Given the description of an element on the screen output the (x, y) to click on. 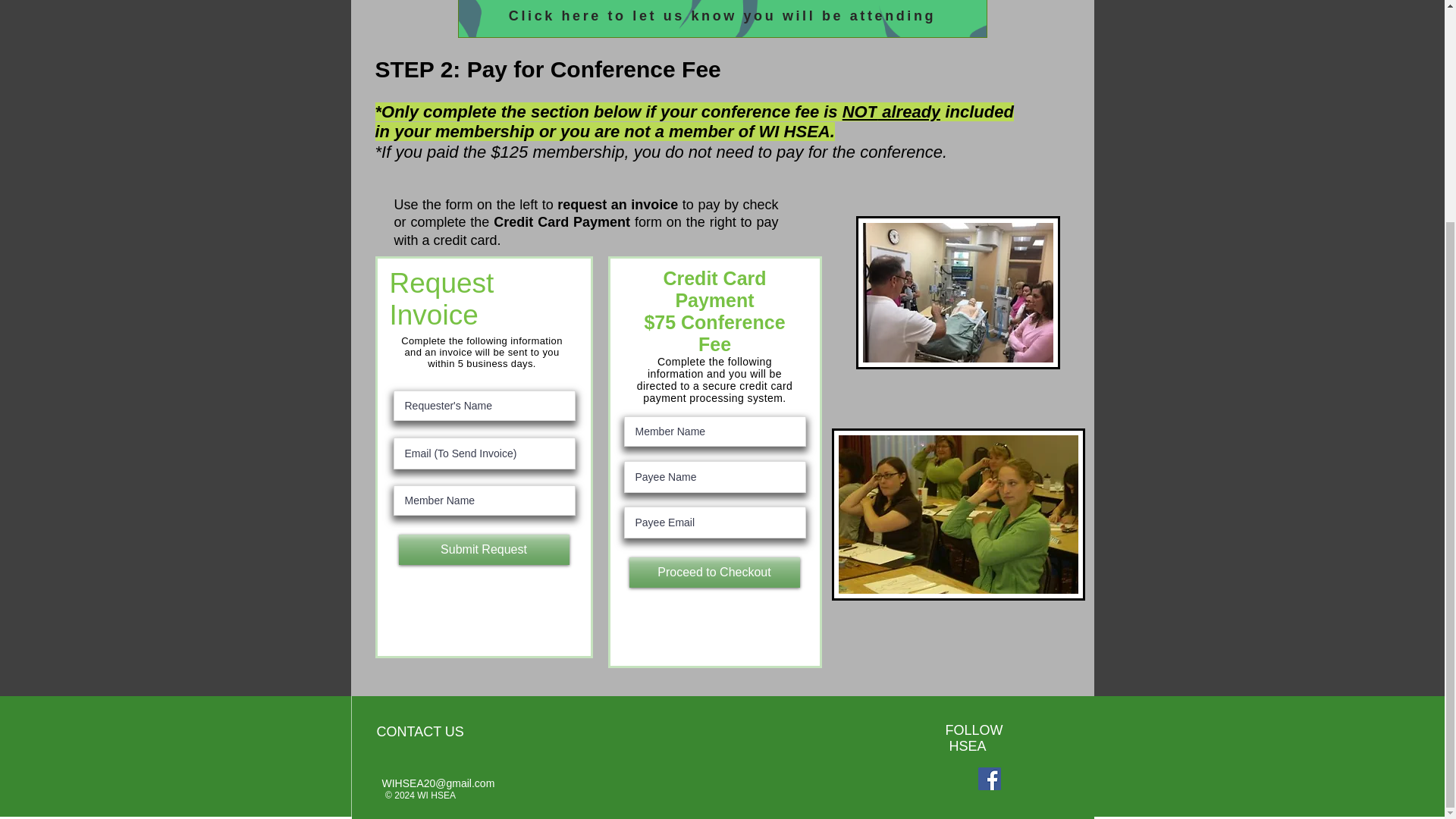
Proceed to Checkout (713, 572)
Submit Request (483, 549)
Click here to let us know you will be attending (722, 18)
